Given the description of an element on the screen output the (x, y) to click on. 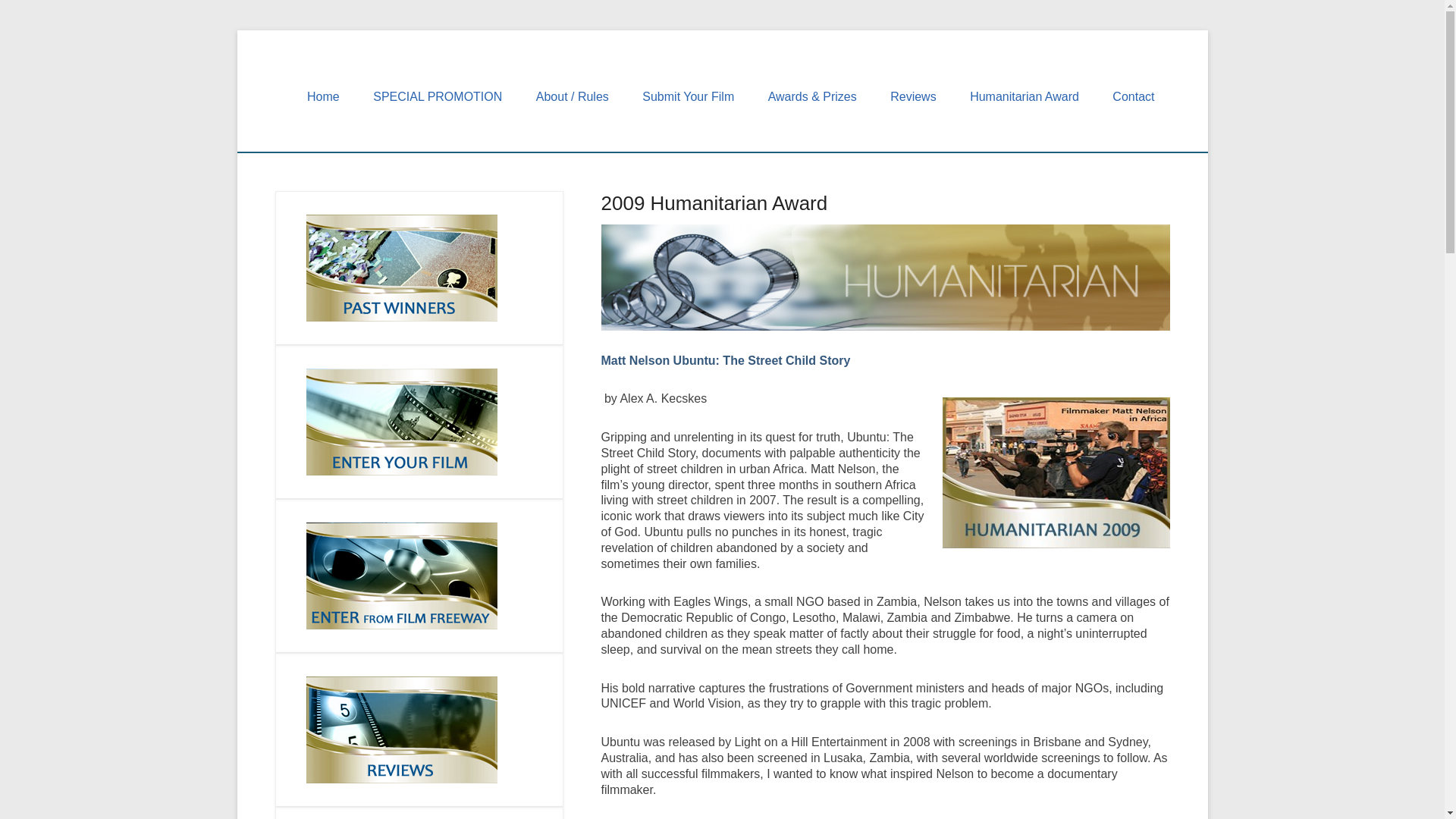
Submit Your Film (688, 96)
2009 Humanitarian Award (713, 202)
Humanitarian Award (1024, 96)
SPECIAL PROMOTION (437, 96)
Contact (1133, 96)
Permalink to 2009 Humanitarian Award (713, 202)
Home (323, 96)
Reviews (912, 96)
